Given the description of an element on the screen output the (x, y) to click on. 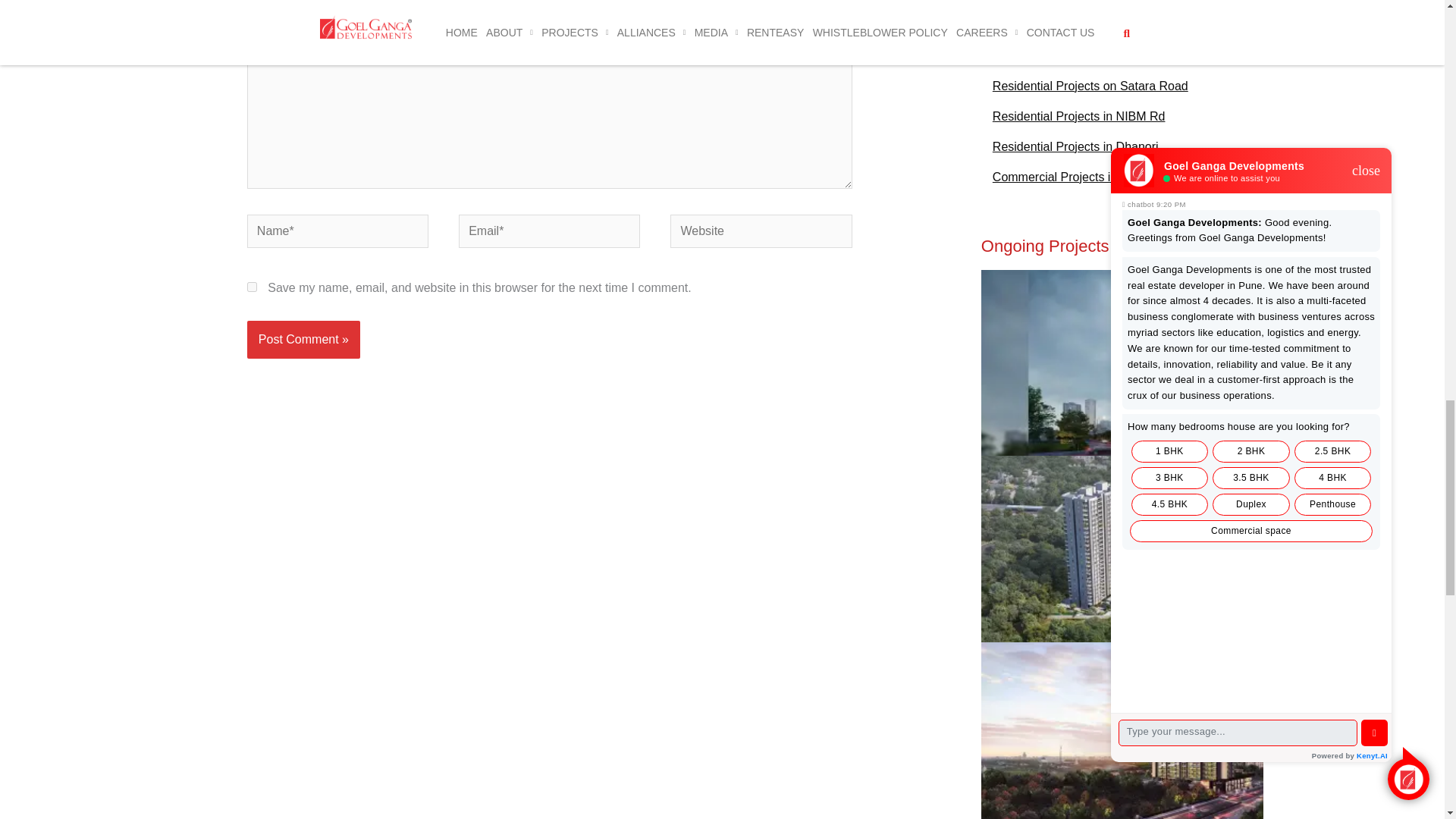
yes (252, 286)
